Given the description of an element on the screen output the (x, y) to click on. 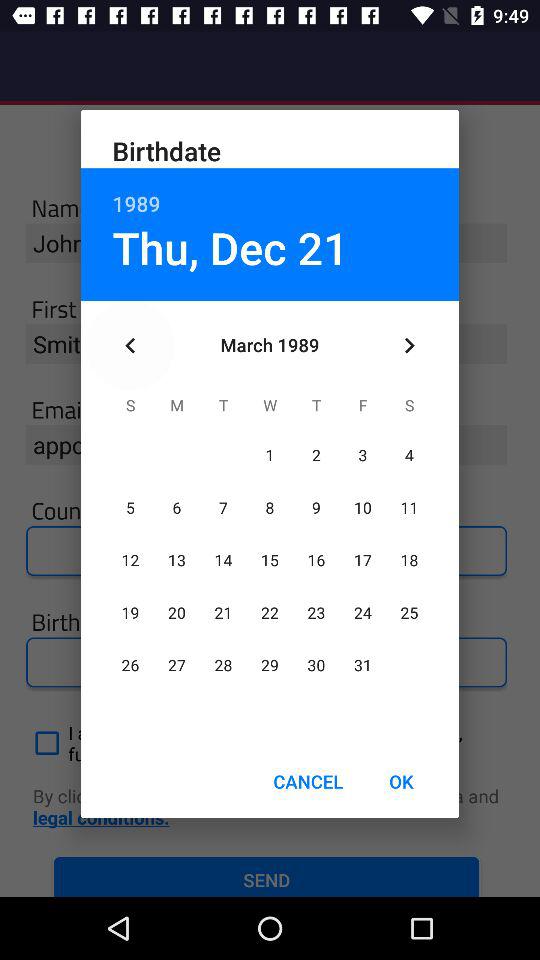
launch the item below birthdate item (269, 192)
